Given the description of an element on the screen output the (x, y) to click on. 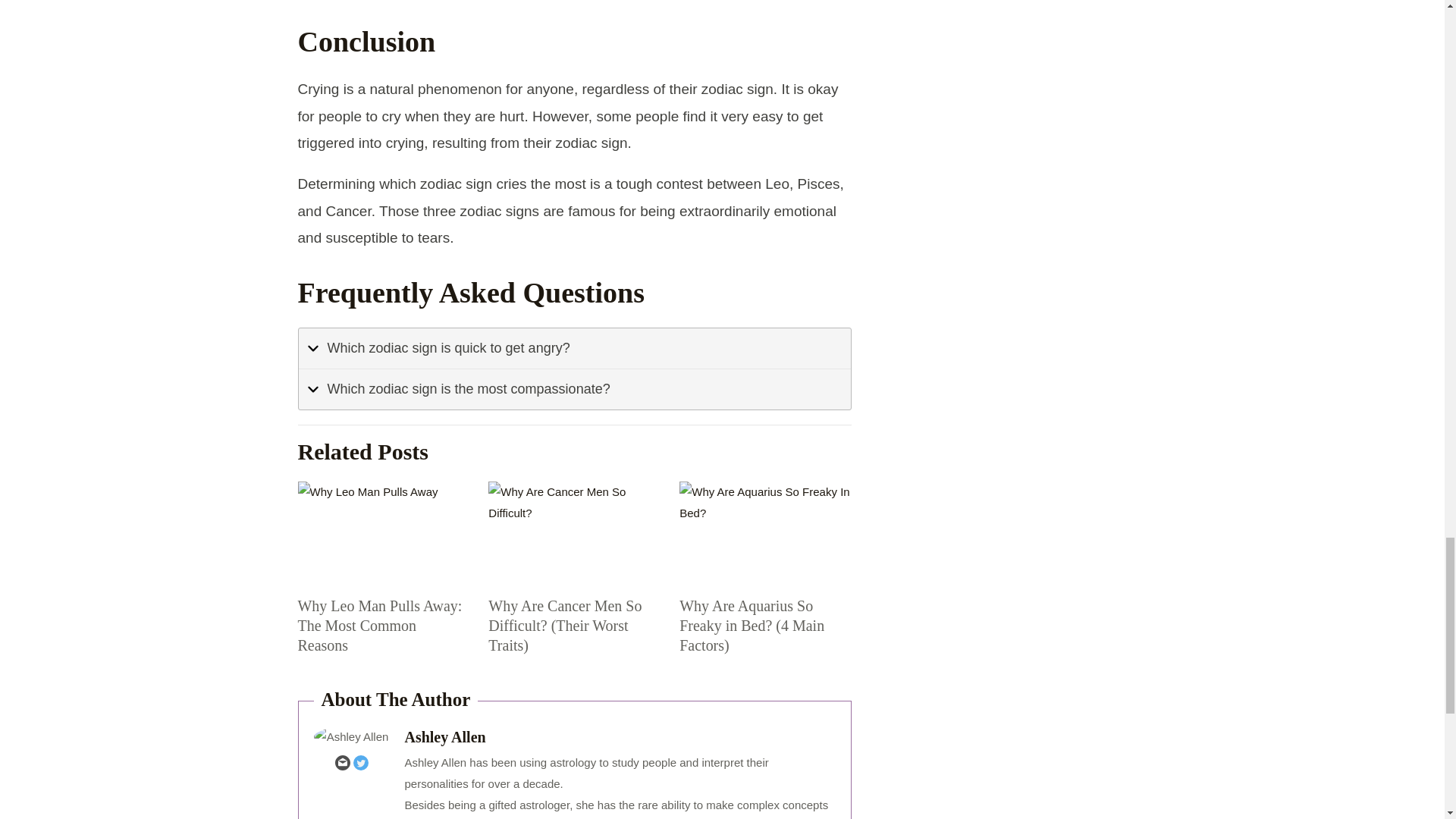
Why Leo Man Pulls Away: The Most Common Reasons (379, 625)
Why Leo Man Pulls Away: The Most Common Reasons (382, 532)
Ashley Allen (619, 736)
